Given the description of an element on the screen output the (x, y) to click on. 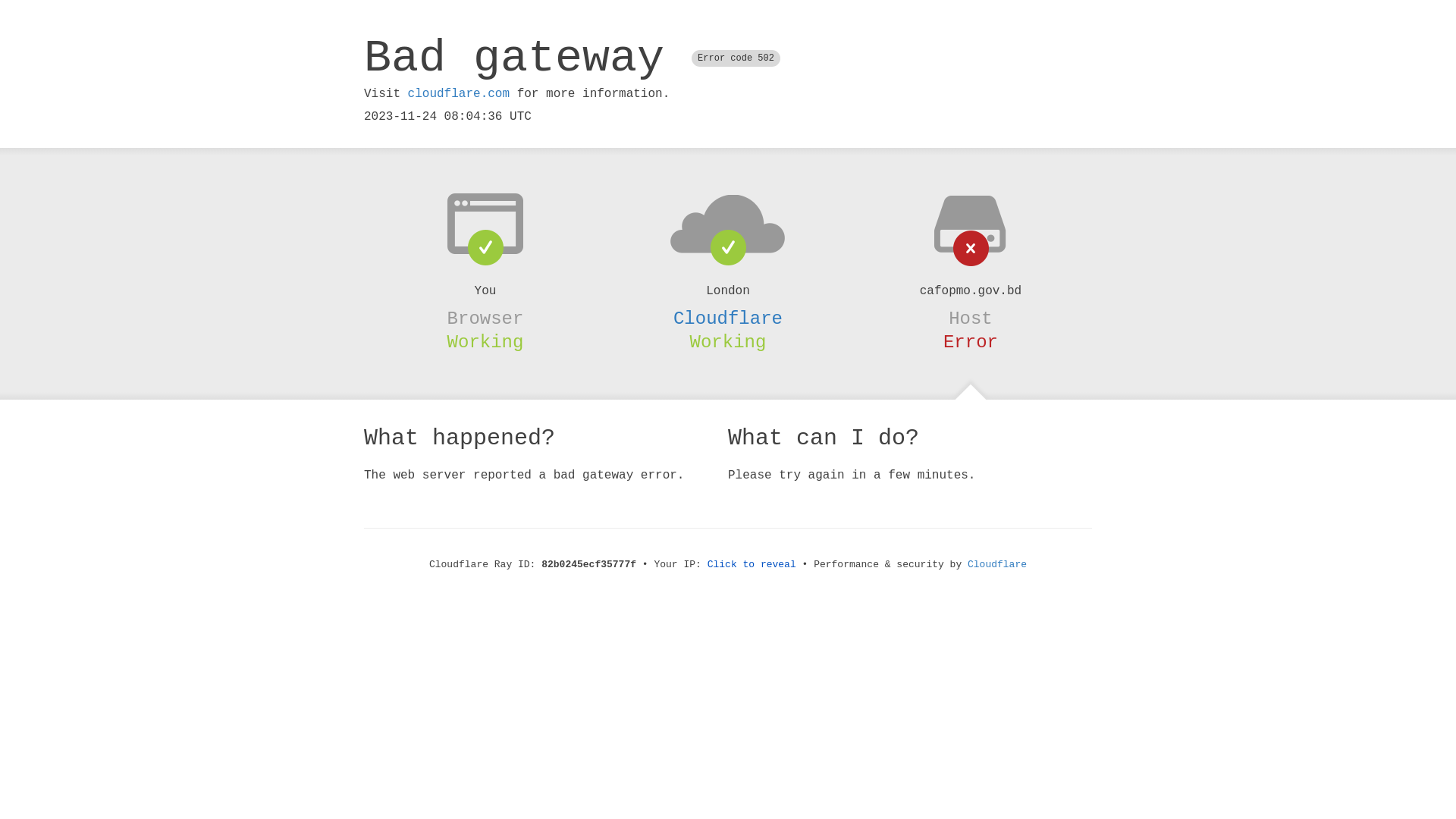
Cloudflare Element type: text (727, 318)
Click to reveal Element type: text (751, 564)
Cloudflare Element type: text (996, 564)
cloudflare.com Element type: text (458, 93)
